Given the description of an element on the screen output the (x, y) to click on. 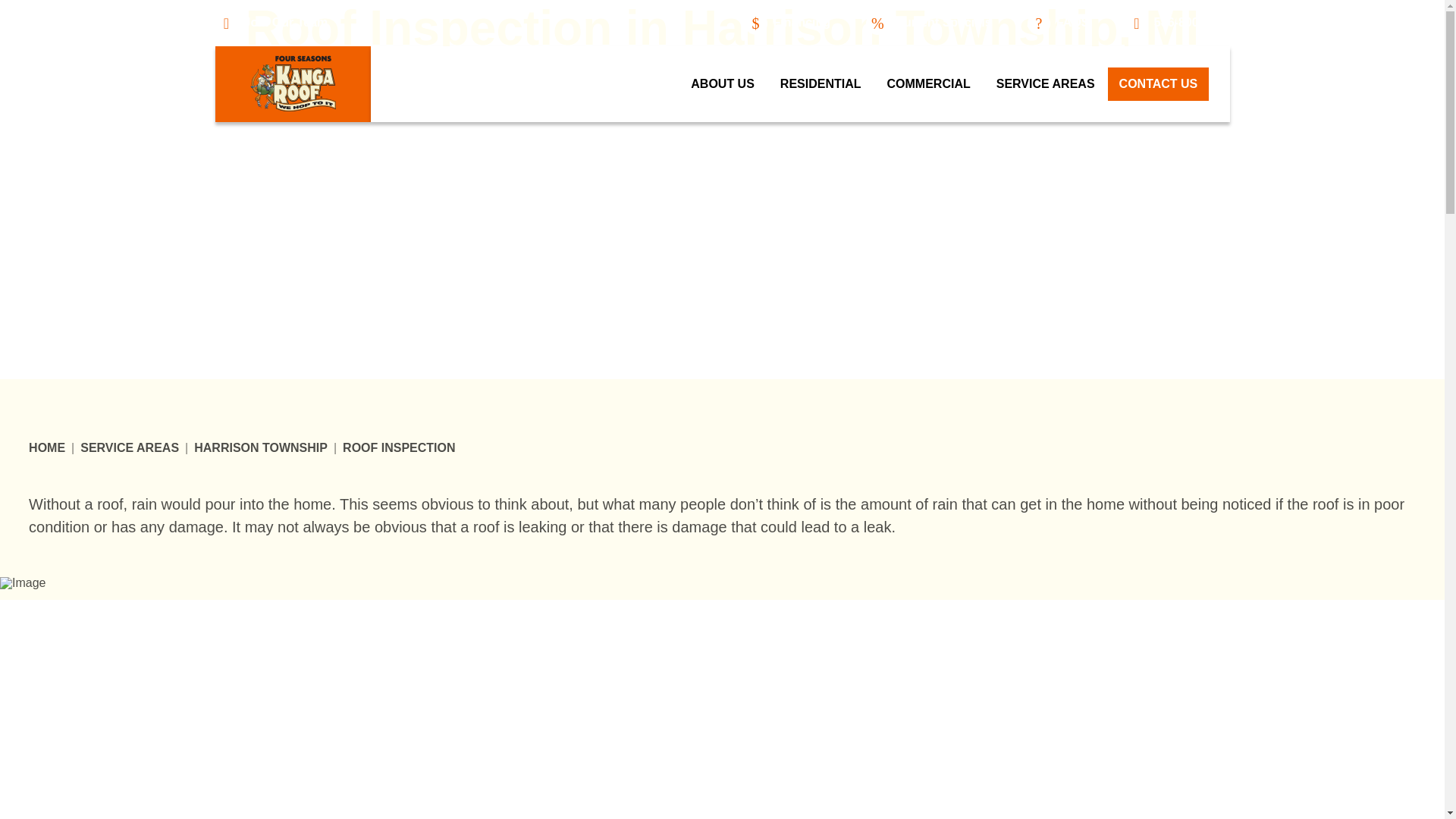
HARRISON TOWNSHIP (260, 448)
ROOF INSPECTION (398, 448)
ABOUT US (722, 83)
COMMERCIAL (929, 83)
CONTACT US (1158, 83)
You Are Here (398, 448)
RESIDENTIAL (821, 83)
CALL OUR TEAM (721, 89)
FAQS (1058, 23)
586-800-8126 (1177, 23)
